Given the description of an element on the screen output the (x, y) to click on. 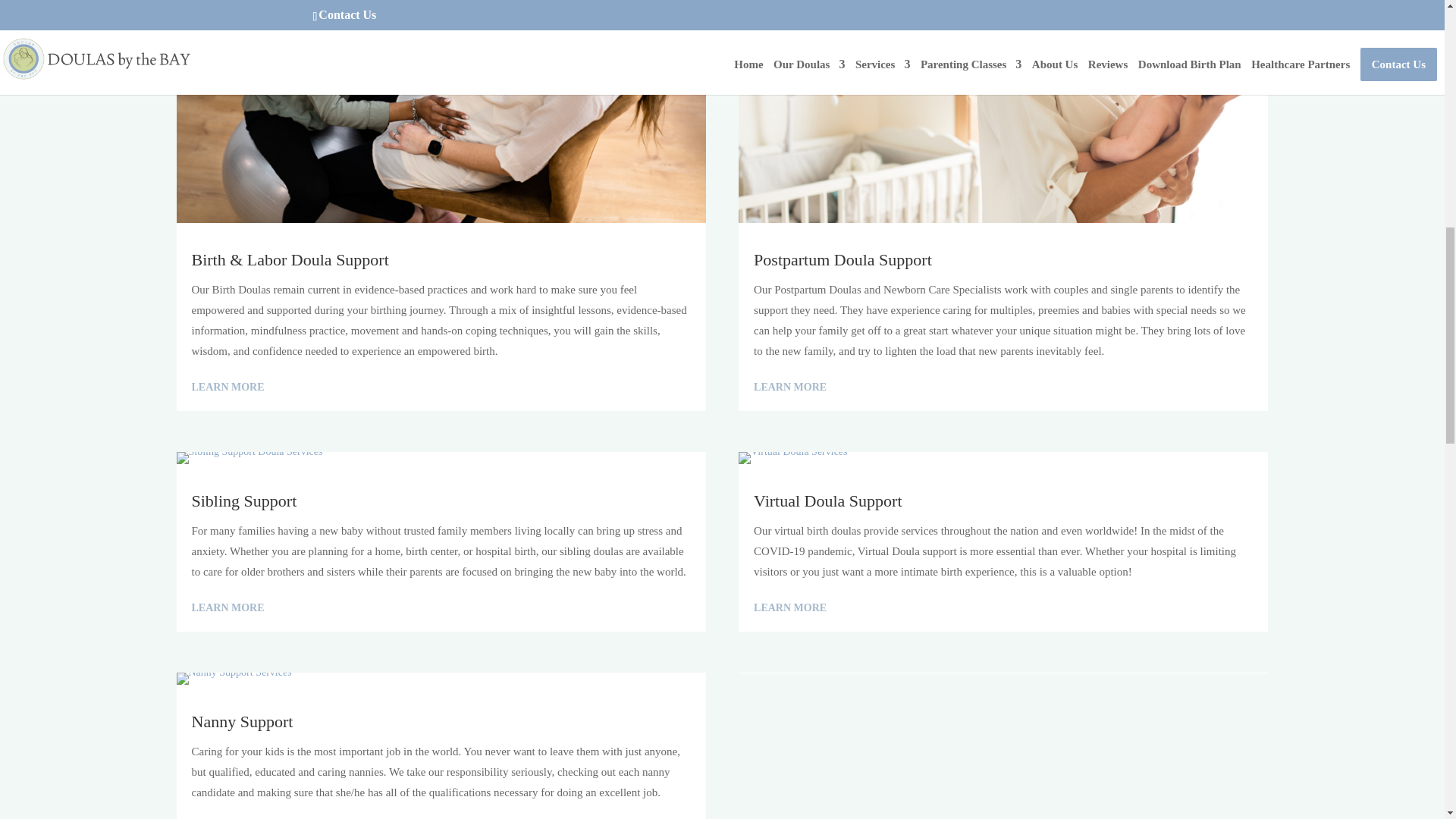
Postpartum Doula Support Services (1003, 111)
Virtual Doula Services (792, 458)
LEARN MORE (226, 607)
Sibling Support (248, 458)
Nanny Support Services (233, 678)
LEARN MORE (790, 387)
LEARN MORE (790, 607)
LEARN MORE (226, 387)
